Given the description of an element on the screen output the (x, y) to click on. 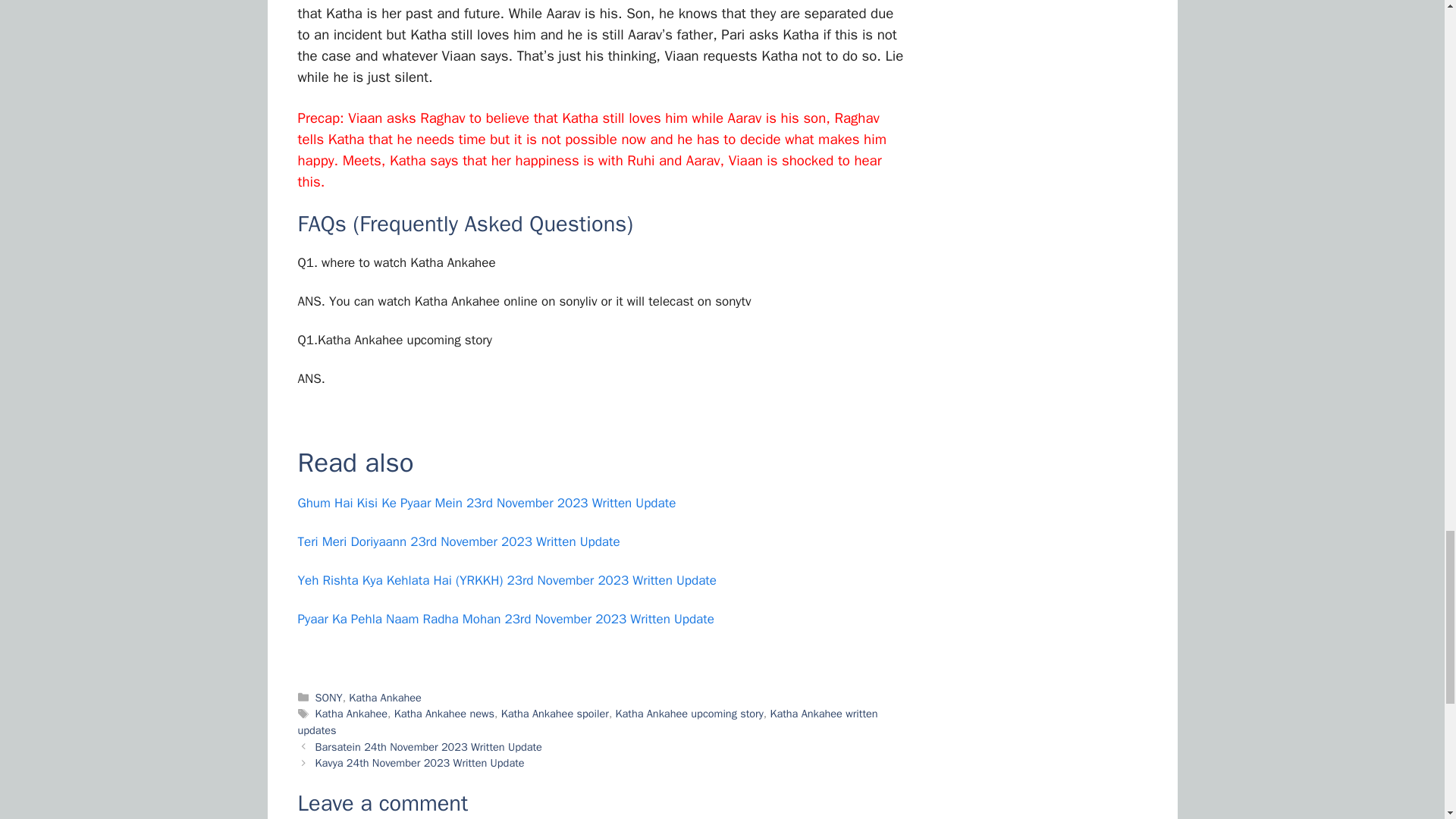
kundali bhagya upcoming story (394, 340)
